Given the description of an element on the screen output the (x, y) to click on. 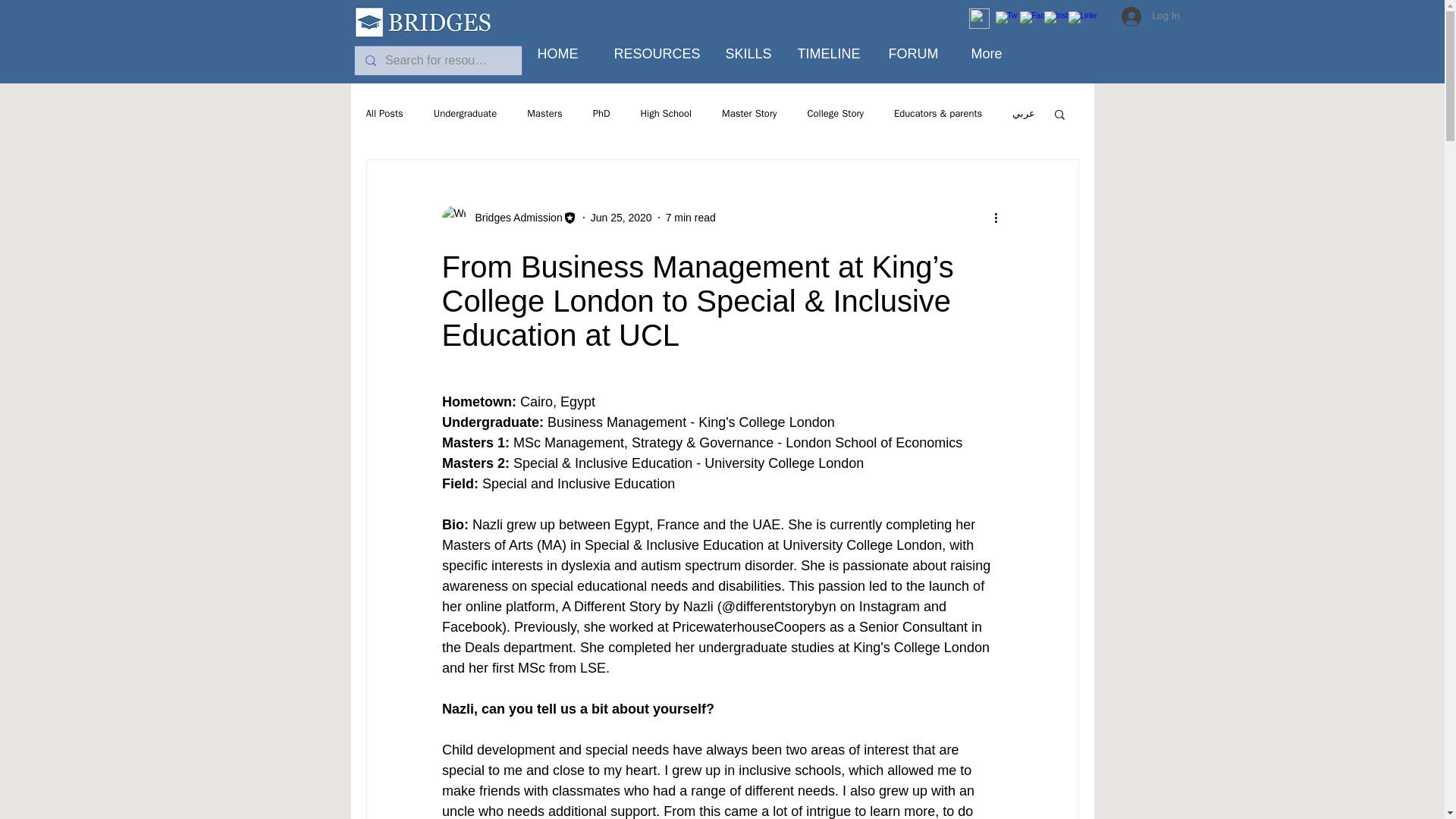
FORUM (911, 46)
All Posts (384, 113)
Log In (1149, 15)
College Story (834, 113)
7 min read (690, 216)
Jun 25, 2020 (621, 216)
PhD (601, 113)
High School (666, 113)
Master Story (749, 113)
Bridges Admission (508, 217)
